Given the description of an element on the screen output the (x, y) to click on. 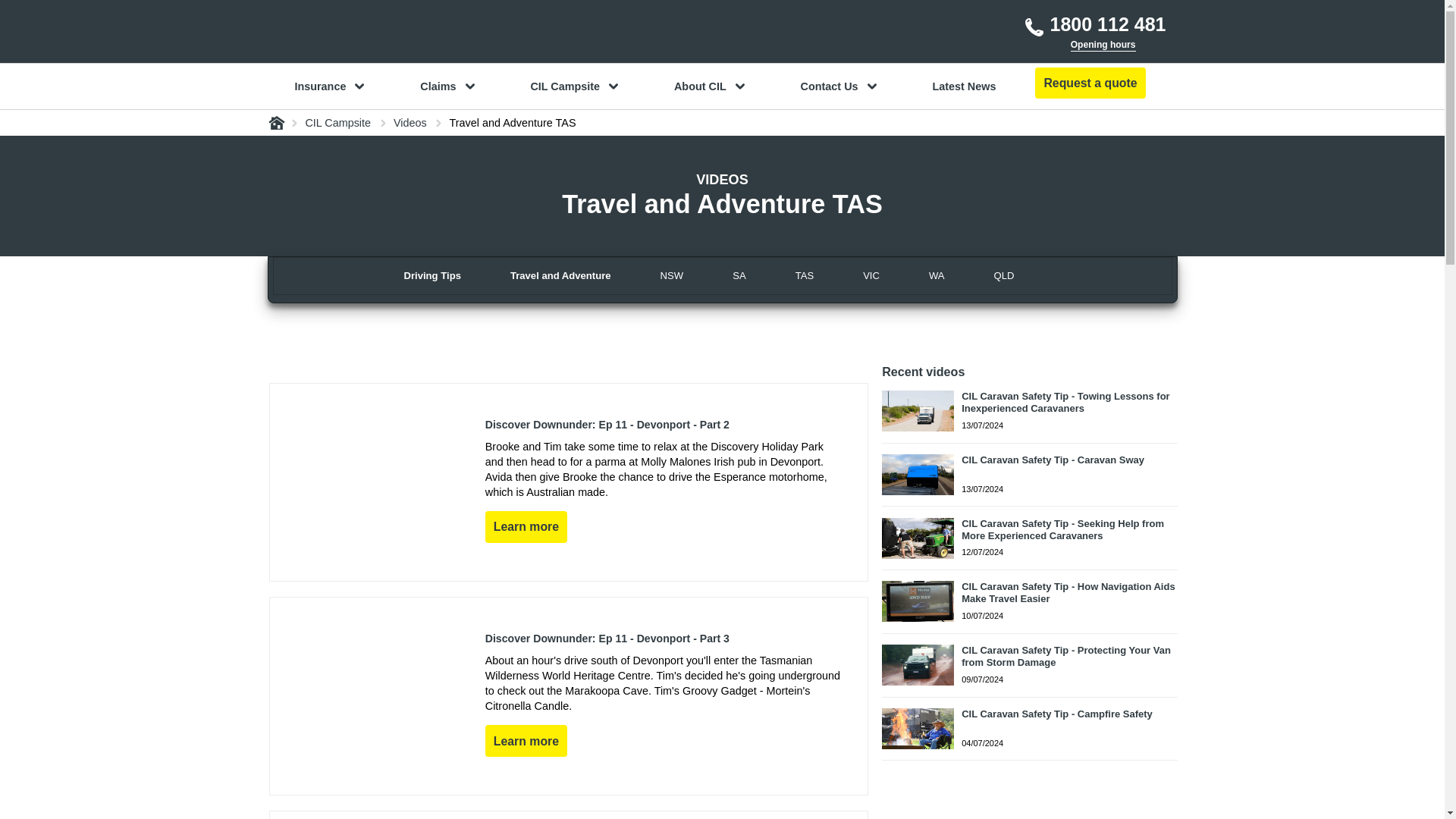
Read full article (525, 739)
Claims (447, 85)
CIL Campsite (574, 85)
Opening hours (1102, 45)
Insurance (329, 85)
Latest News (963, 85)
Article (568, 482)
1800 112 481 (1094, 25)
Read full article (525, 526)
About CIL (709, 85)
